Given the description of an element on the screen output the (x, y) to click on. 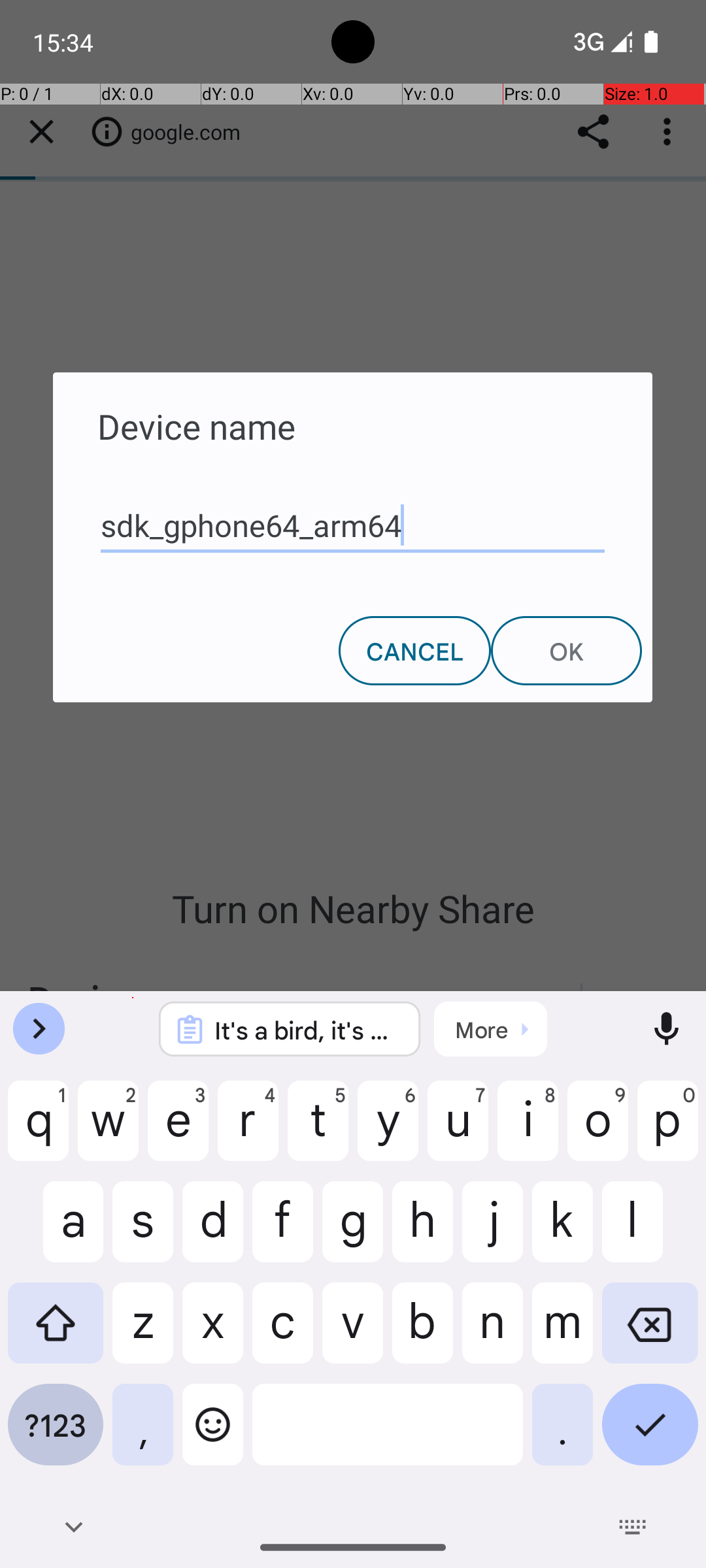
Device name Element type: android.widget.TextView (352, 412)
sdk_gphone64_arm64 Element type: android.widget.EditText (352, 525)
CANCEL Element type: android.widget.Button (414, 650)
OK Element type: android.widget.Button (565, 650)
Back Element type: android.widget.ImageView (73, 1526)
Switch input method Element type: android.widget.ImageView (632, 1526)
Open features menu Element type: android.widget.FrameLayout (39, 1028)
Voice input Element type: android.widget.FrameLayout (666, 1028)
q Element type: android.widget.FrameLayout (38, 1130)
w Element type: android.widget.FrameLayout (108, 1130)
e Element type: android.widget.FrameLayout (178, 1130)
r Element type: android.widget.FrameLayout (248, 1130)
t Element type: android.widget.FrameLayout (318, 1130)
y Element type: android.widget.FrameLayout (387, 1130)
u Element type: android.widget.FrameLayout (457, 1130)
i Element type: android.widget.FrameLayout (527, 1130)
o Element type: android.widget.FrameLayout (597, 1130)
p Element type: android.widget.FrameLayout (667, 1130)
a Element type: android.widget.FrameLayout (55, 1231)
s Element type: android.widget.FrameLayout (142, 1231)
d Element type: android.widget.FrameLayout (212, 1231)
f Element type: android.widget.FrameLayout (282, 1231)
g Element type: android.widget.FrameLayout (352, 1231)
h Element type: android.widget.FrameLayout (422, 1231)
j Element type: android.widget.FrameLayout (492, 1231)
k Element type: android.widget.FrameLayout (562, 1231)
l Element type: android.widget.FrameLayout (649, 1231)
Shift Element type: android.widget.FrameLayout (55, 1332)
z Element type: android.widget.FrameLayout (142, 1332)
x Element type: android.widget.FrameLayout (212, 1332)
c Element type: android.widget.FrameLayout (282, 1332)
v Element type: android.widget.FrameLayout (352, 1332)
b Element type: android.widget.FrameLayout (422, 1332)
n Element type: android.widget.FrameLayout (492, 1332)
m Element type: android.widget.FrameLayout (562, 1332)
Delete Element type: android.widget.FrameLayout (649, 1332)
Symbol keyboard Element type: android.widget.FrameLayout (55, 1434)
, Element type: android.widget.FrameLayout (142, 1434)
Emoji button Element type: android.widget.FrameLayout (212, 1434)
Space Element type: android.widget.FrameLayout (387, 1434)
. Element type: android.widget.FrameLayout (562, 1434)
Done Element type: android.widget.FrameLayout (649, 1434)
Click to open Clipboard Element type: android.view.ViewGroup (490, 1028)
It's a bird, it's a plane. Element type: android.widget.TextView (306, 1029)
